Given the description of an element on the screen output the (x, y) to click on. 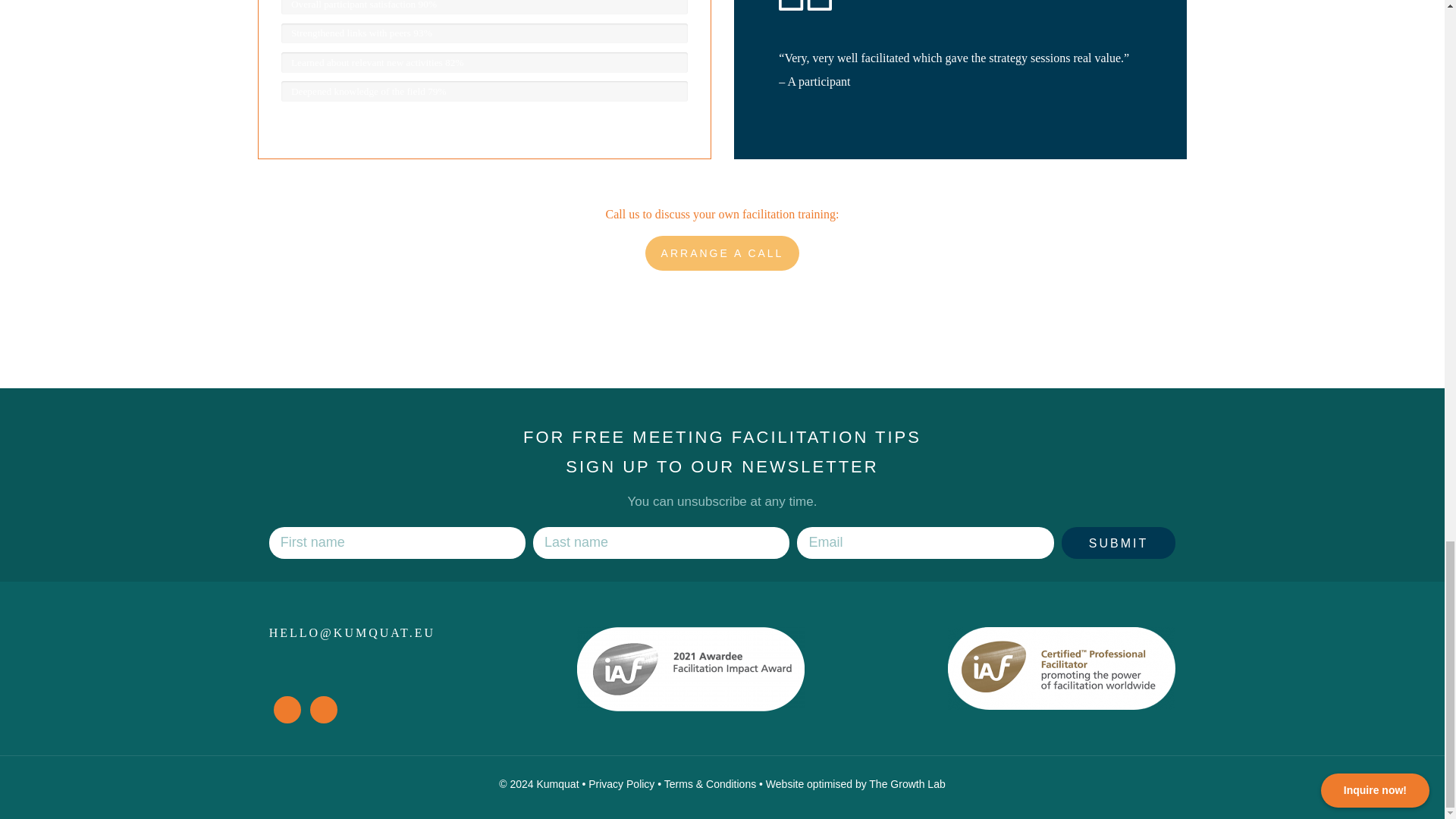
SUBMIT (1117, 542)
Arrange a call (722, 253)
Privacy Policy (620, 784)
The Growth Lab (906, 784)
ARRANGE A CALL (722, 253)
